Given the description of an element on the screen output the (x, y) to click on. 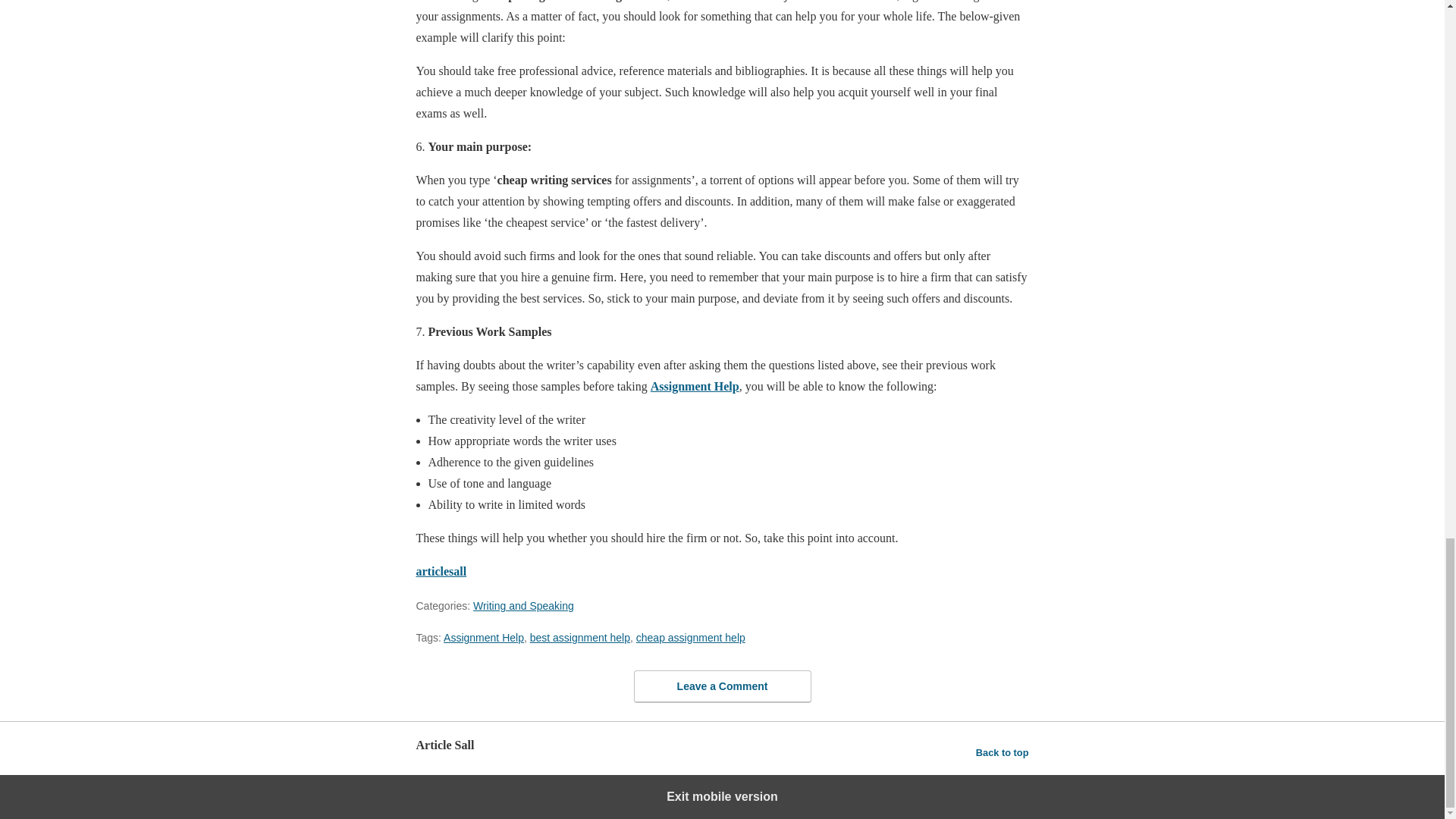
Assignment Help (484, 637)
articlesall (439, 571)
Back to top (1002, 752)
Leave a Comment (721, 686)
Assignment Help (694, 386)
cheap assignment help (690, 637)
best assignment help (579, 637)
Writing and Speaking (523, 605)
